Given the description of an element on the screen output the (x, y) to click on. 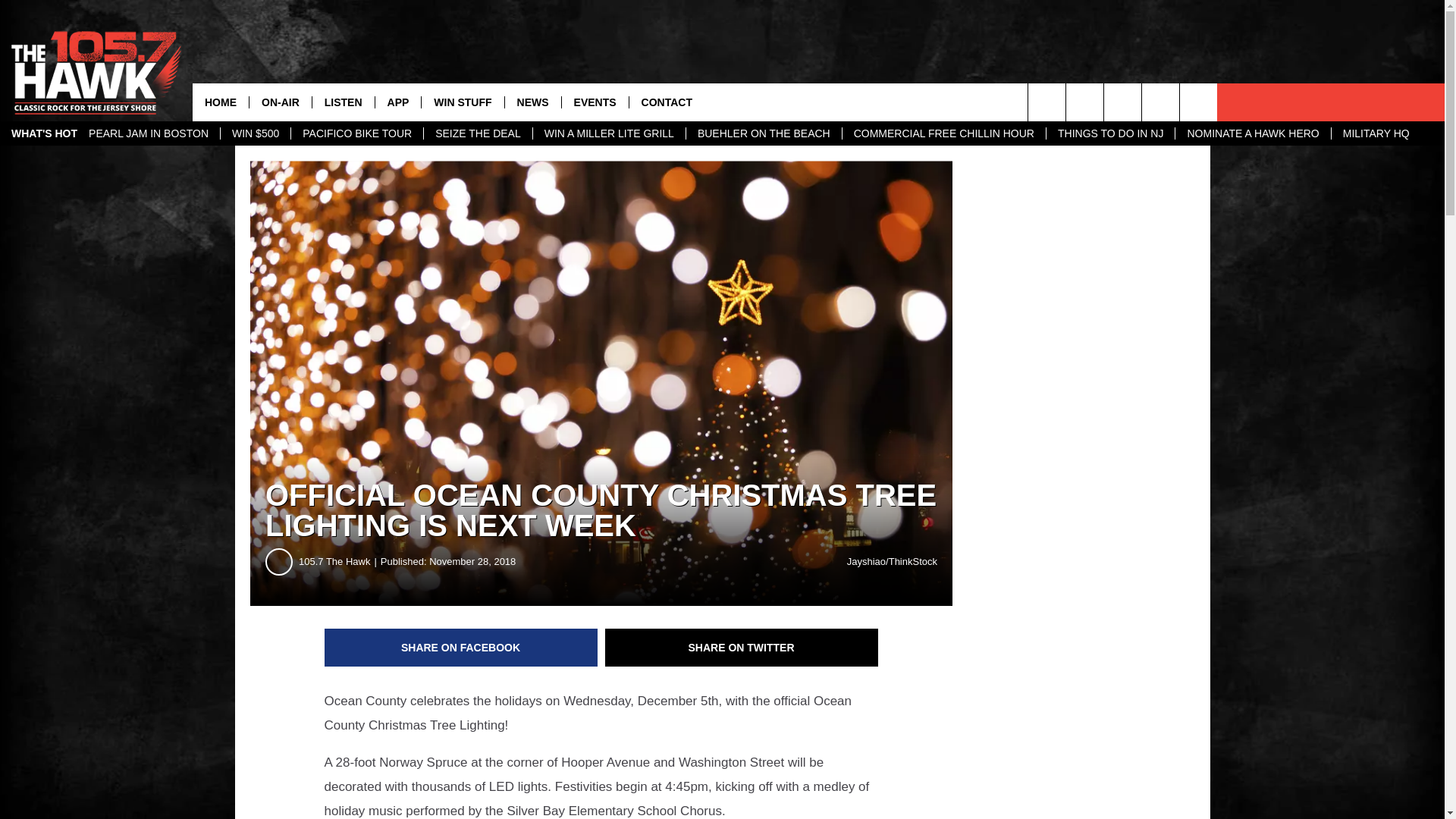
PACIFICO BIKE TOUR (356, 133)
Share on Facebook (460, 647)
LISTEN (342, 102)
WIN A MILLER LITE GRILL (608, 133)
PEARL JAM IN BOSTON (148, 133)
BUEHLER ON THE BEACH (763, 133)
APP (398, 102)
MILITARY HQ (1375, 133)
WIN STUFF (461, 102)
THINGS TO DO IN NJ (1109, 133)
ON-AIR (279, 102)
HOME (220, 102)
NOMINATE A HAWK HERO (1252, 133)
COMMERCIAL FREE CHILLIN HOUR (943, 133)
Share on Twitter (741, 647)
